Given the description of an element on the screen output the (x, y) to click on. 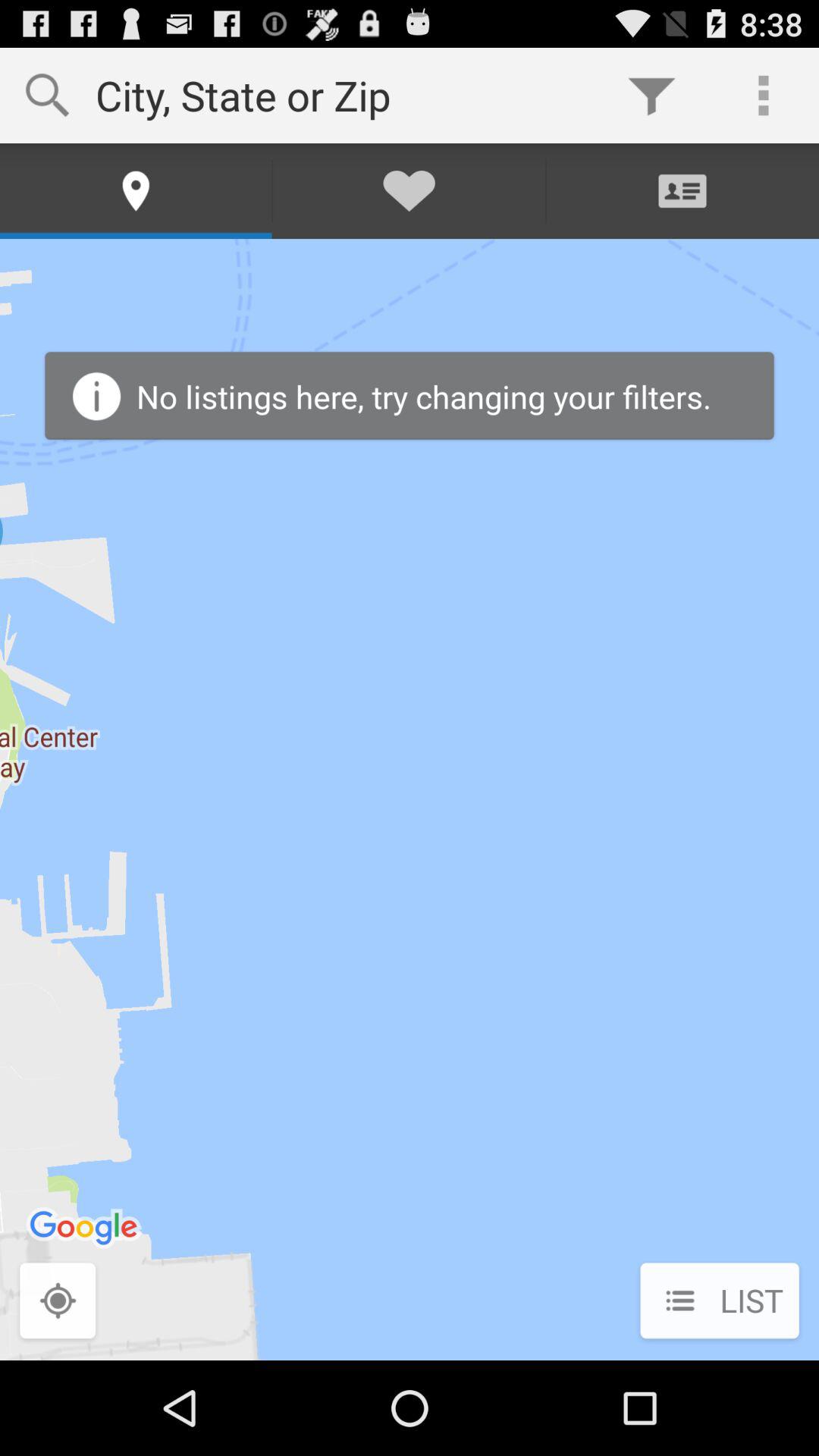
turn on item at the center (409, 799)
